Given the description of an element on the screen output the (x, y) to click on. 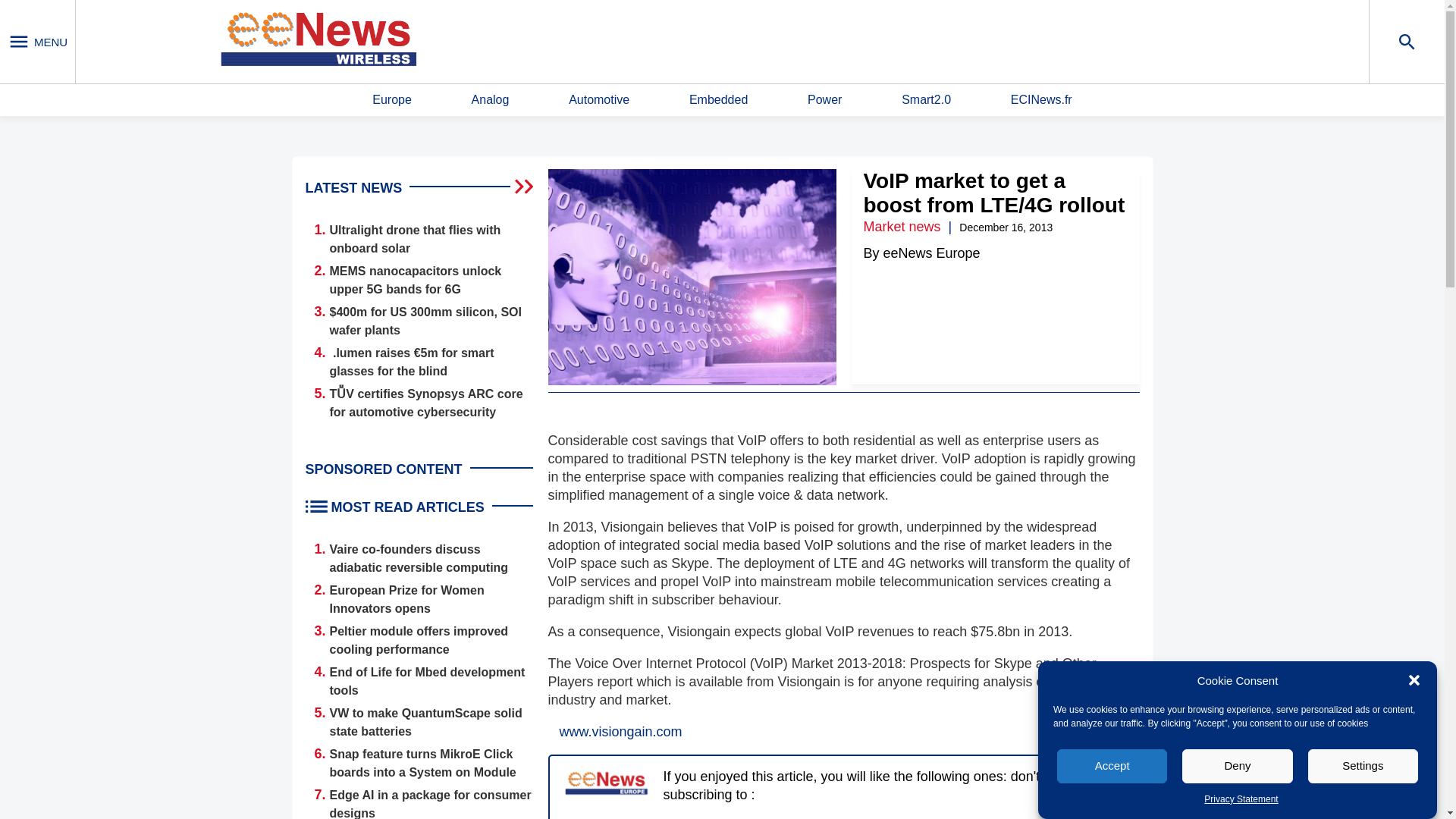
Europe (392, 99)
Analog (490, 99)
Smart2.0 (925, 99)
ECINews.fr (1040, 99)
Power (824, 99)
Embedded (718, 99)
Automotive (598, 99)
